Given the description of an element on the screen output the (x, y) to click on. 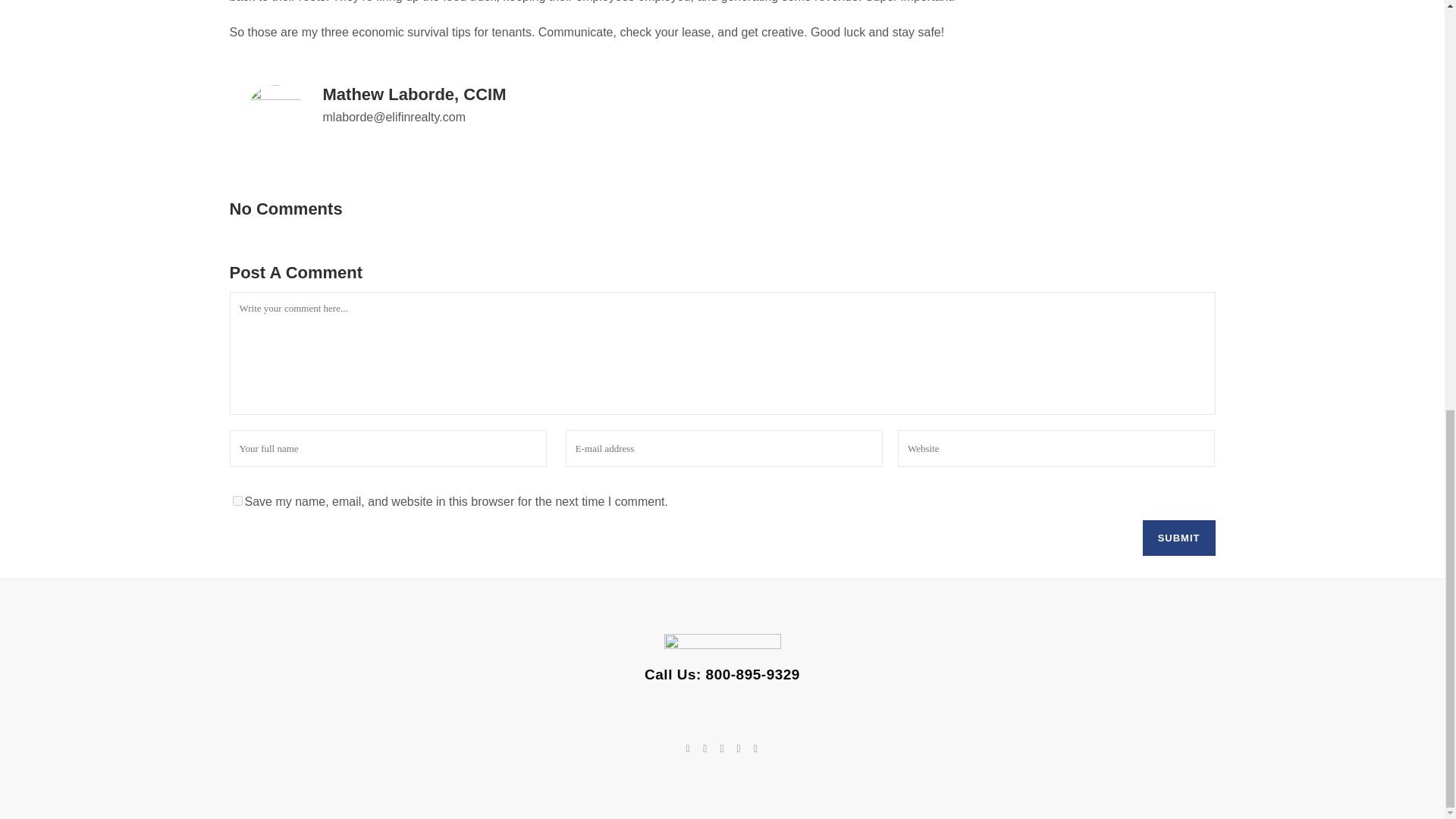
yes (236, 501)
Submit (1178, 538)
Submit (1178, 538)
